Given the description of an element on the screen output the (x, y) to click on. 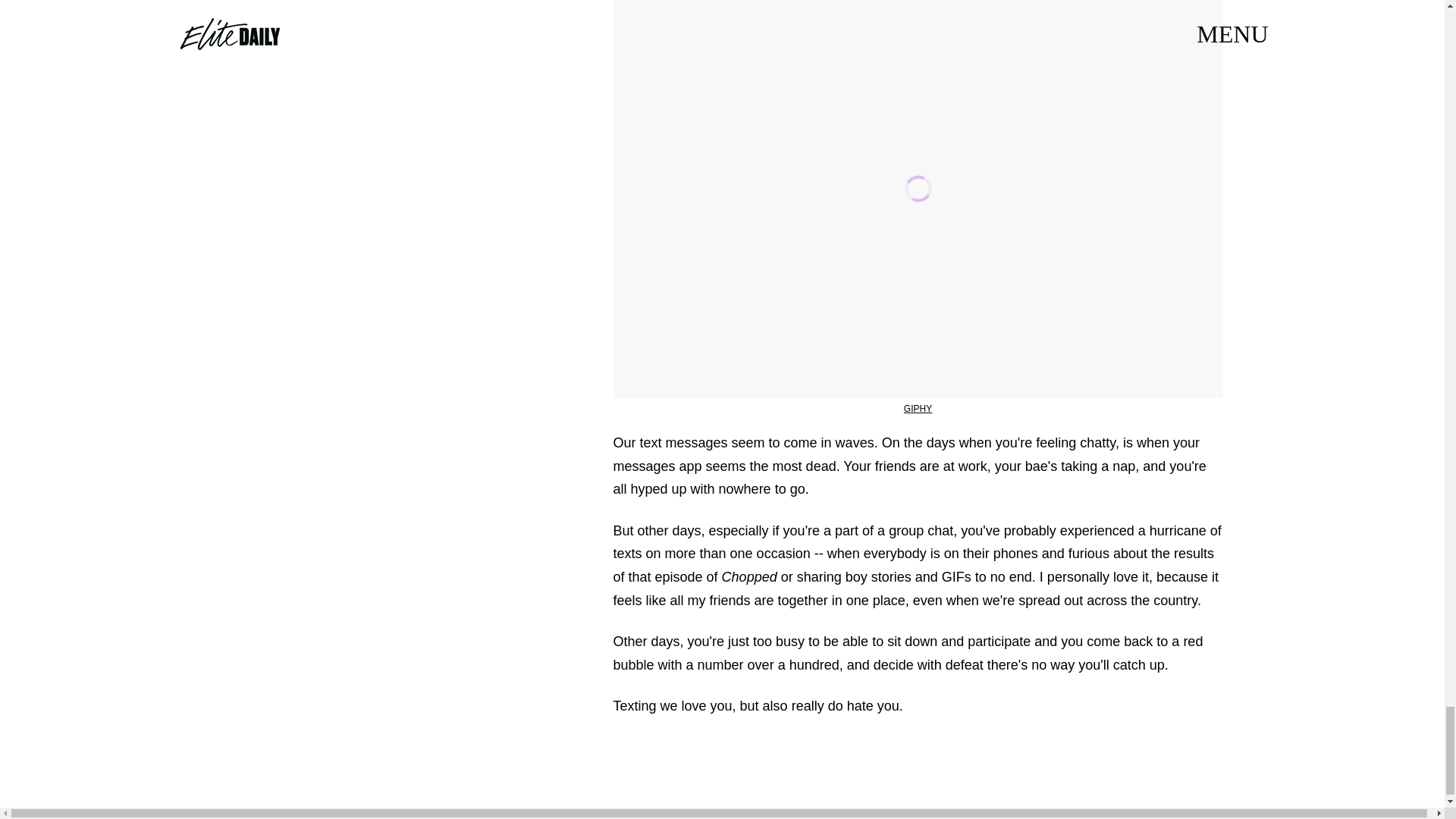
GIPHY (917, 408)
